Given the description of an element on the screen output the (x, y) to click on. 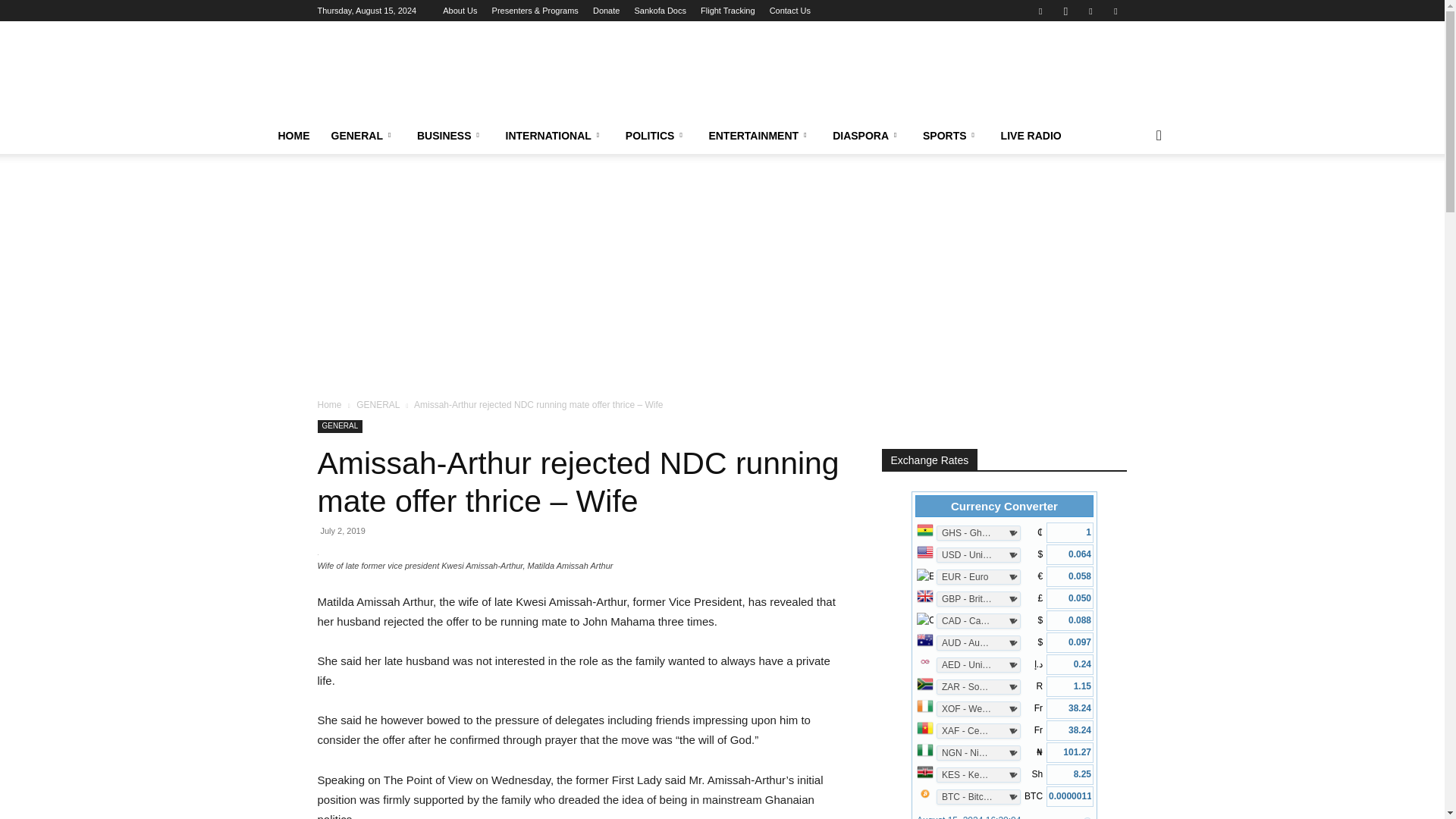
Sankofa Docs (659, 10)
Instagram (1065, 10)
8.25 (1069, 774)
0.0000011 (1069, 796)
GENERAL (363, 135)
38.24 (1069, 708)
Donate (606, 10)
HOME (293, 135)
Contact Us (790, 10)
Facebook (1040, 10)
